Given the description of an element on the screen output the (x, y) to click on. 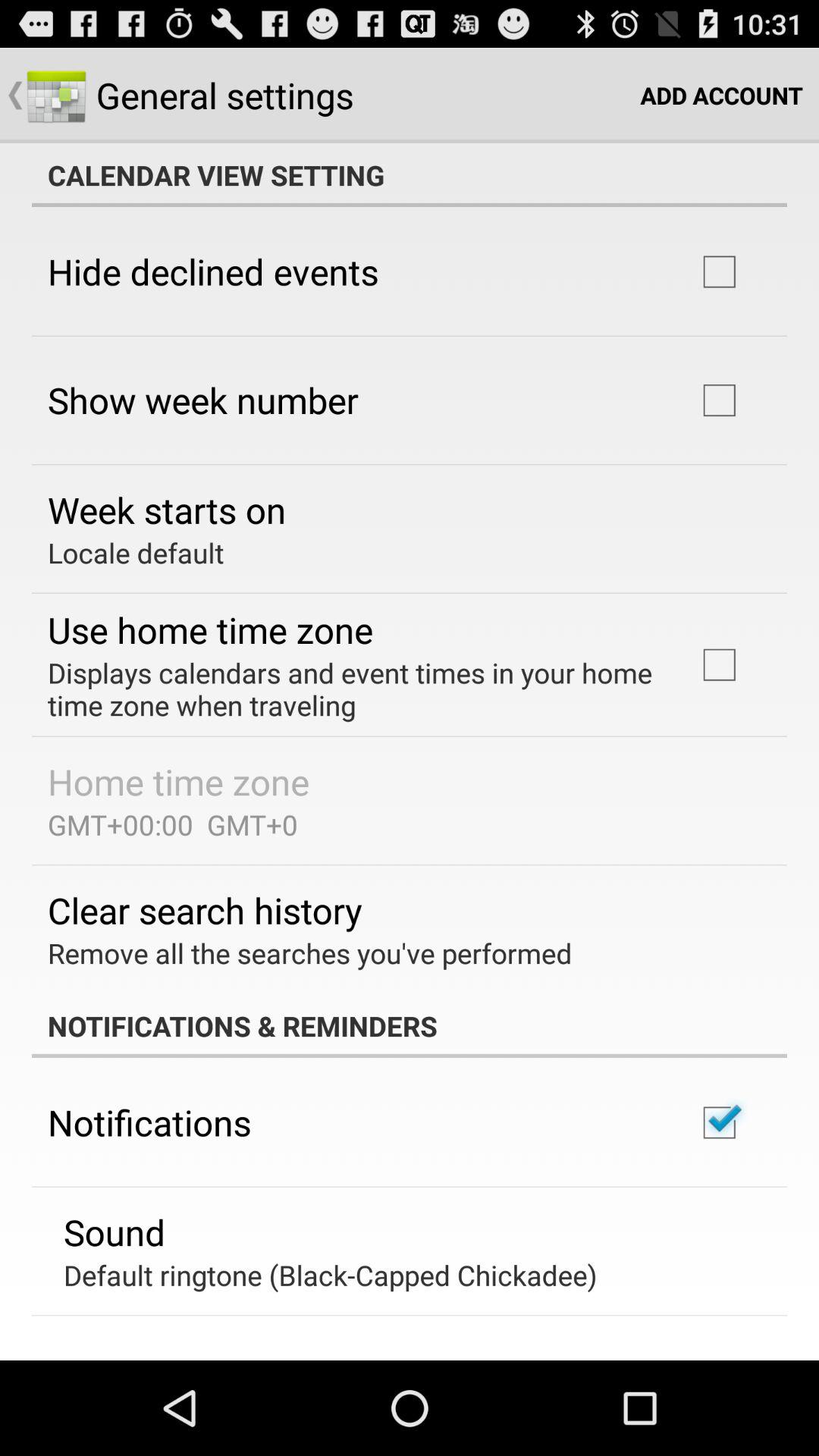
click the icon at the top (409, 175)
